Given the description of an element on the screen output the (x, y) to click on. 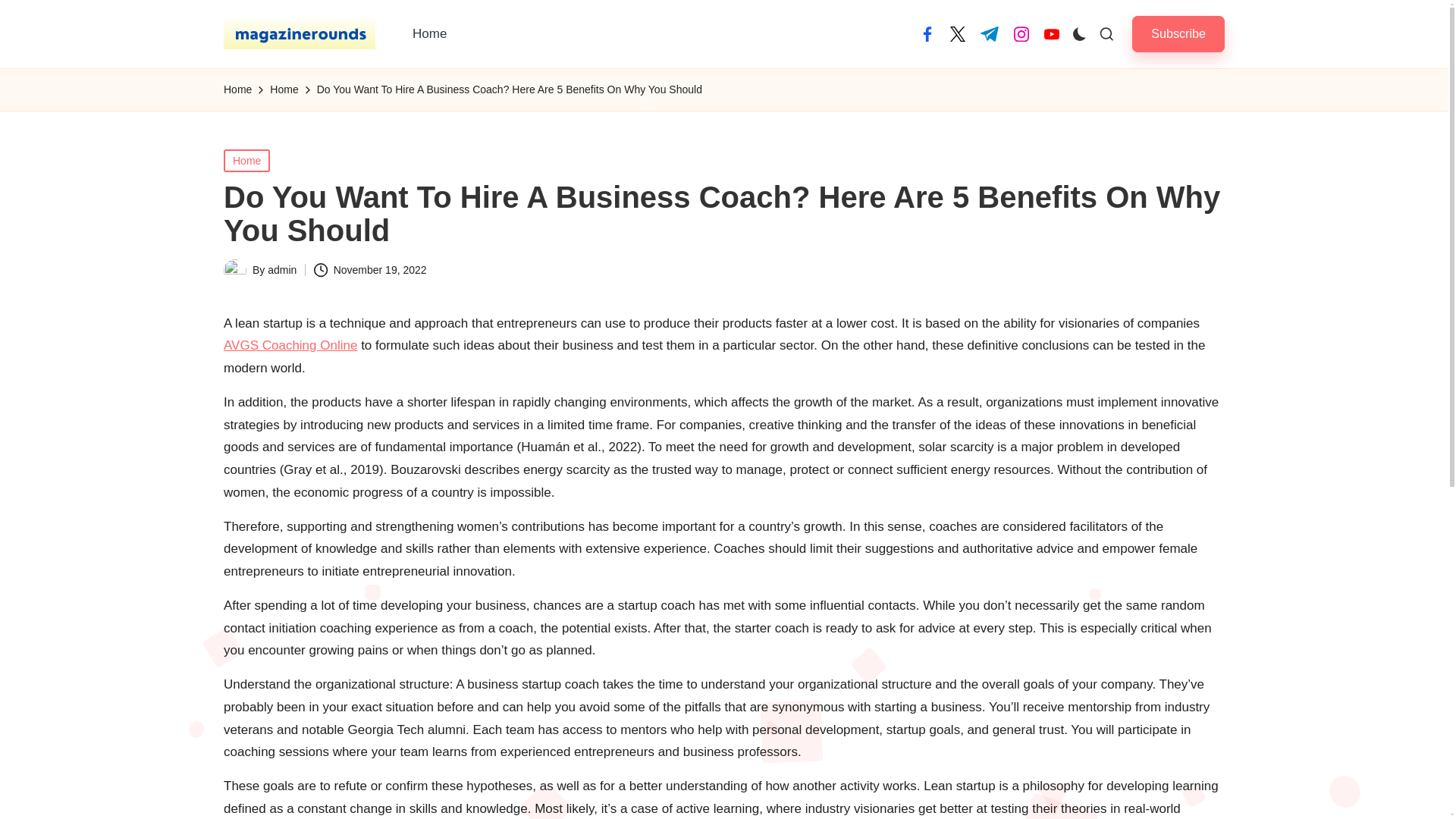
Subscribe (1178, 33)
Home (429, 33)
facebook.com (927, 33)
Home (237, 89)
youtube.com (1051, 33)
Home (246, 159)
twitter.com (957, 33)
Home (283, 89)
admin (282, 269)
View all posts by admin (282, 269)
instagram.com (1020, 33)
t.me (989, 33)
AVGS Coaching Online (290, 345)
